Given the description of an element on the screen output the (x, y) to click on. 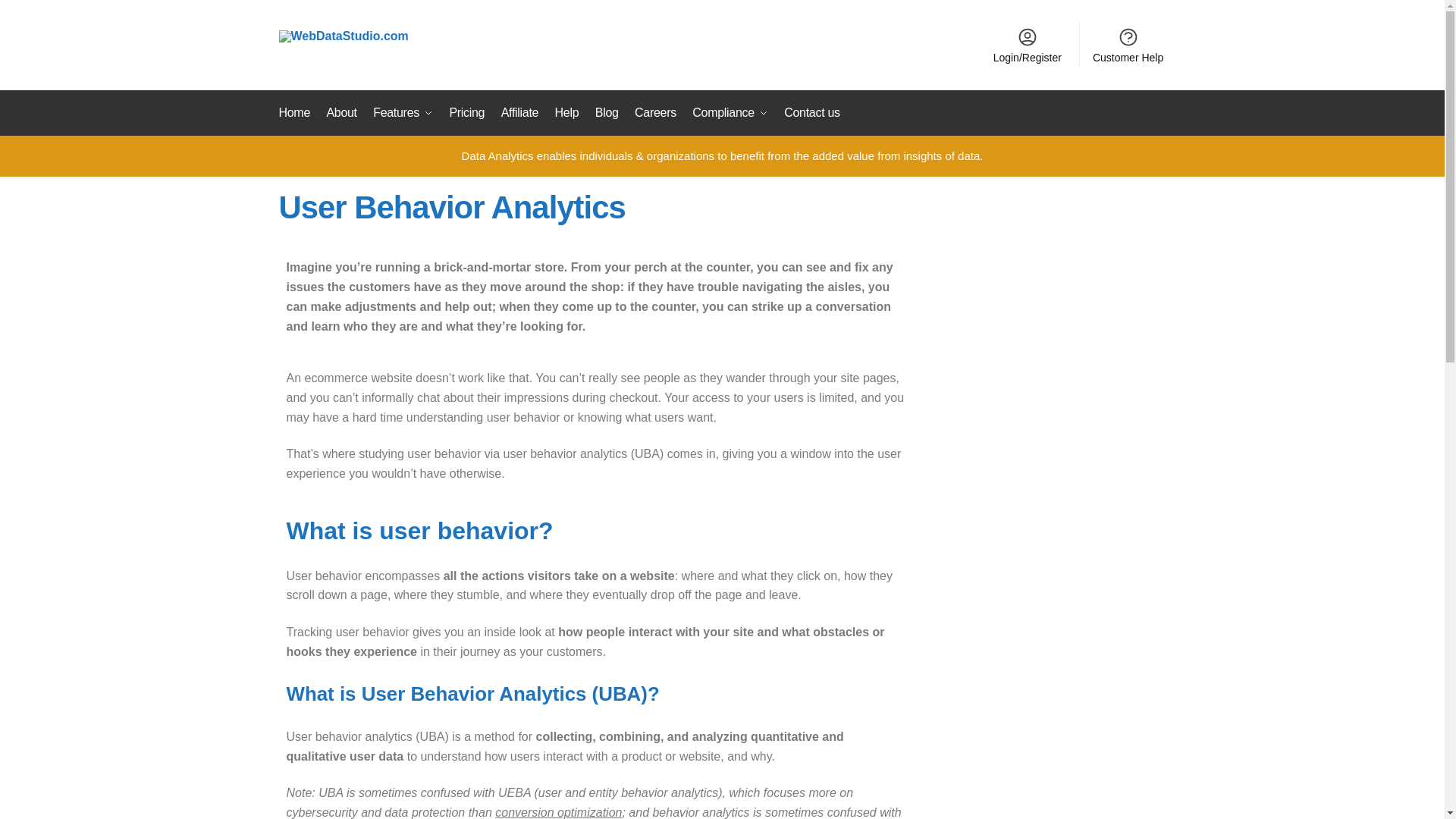
Careers (655, 112)
Features (402, 112)
Customer Help (1128, 44)
Affiliate (519, 112)
About (341, 112)
Contact us (811, 112)
Pricing (466, 112)
Compliance (729, 112)
